Given the description of an element on the screen output the (x, y) to click on. 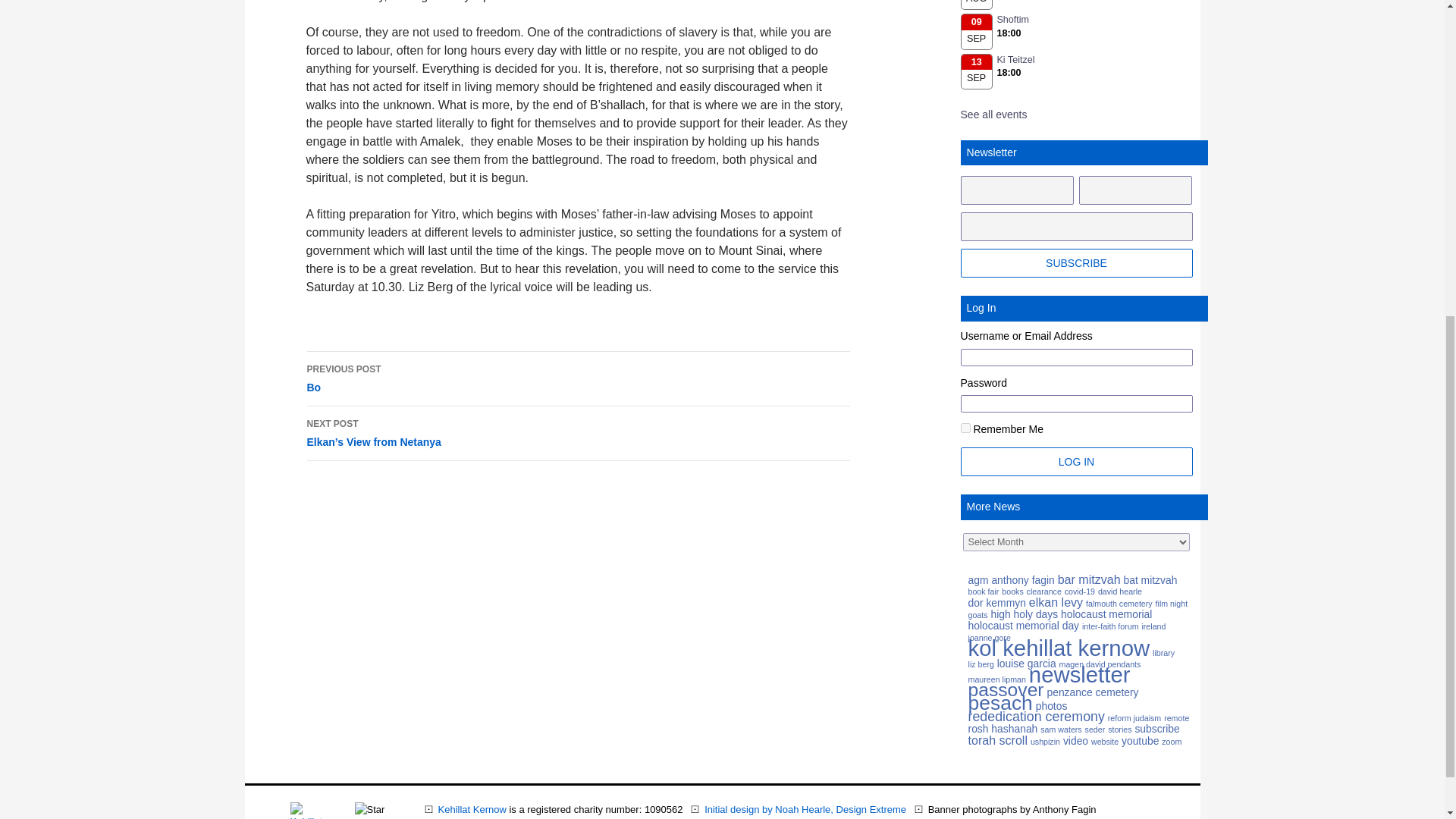
Subscribe (1076, 262)
forever (965, 428)
See all events (993, 114)
